Given the description of an element on the screen output the (x, y) to click on. 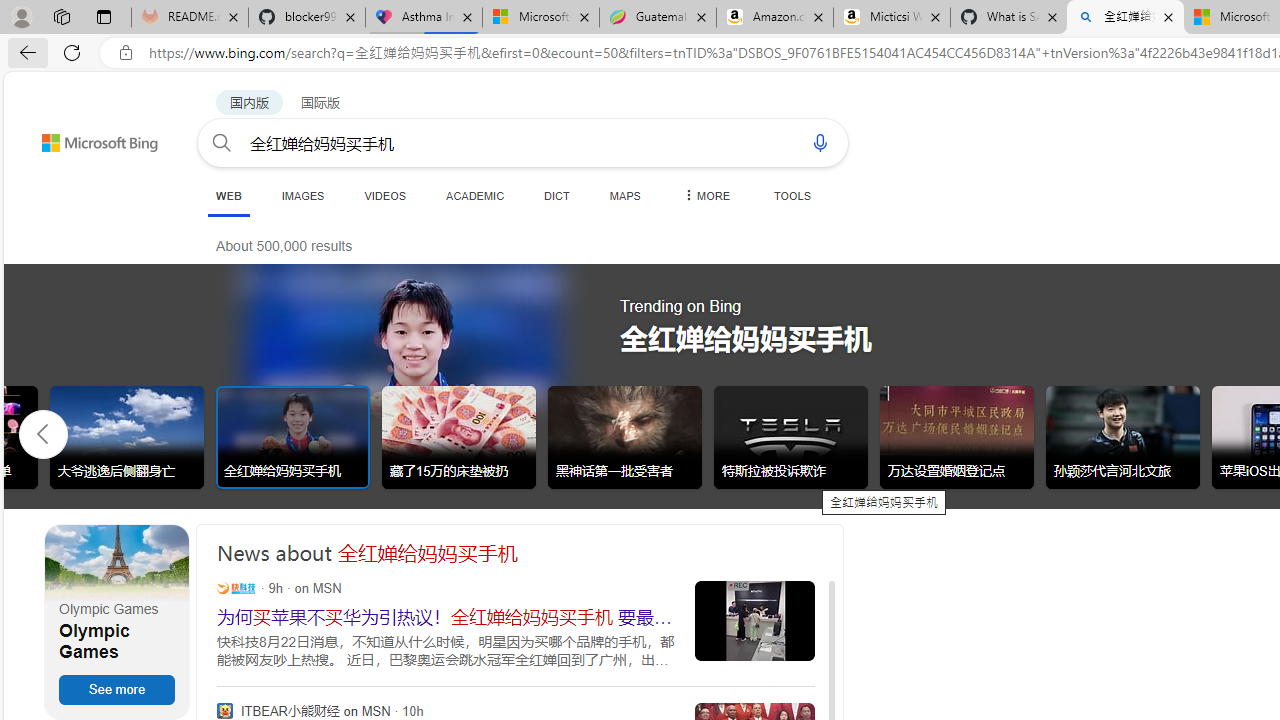
VIDEOS (384, 195)
Olympic Games Olympic Games See more (116, 621)
ACADEMIC (475, 195)
DICT (557, 195)
WEB (228, 196)
Skip to content (63, 133)
